Given the description of an element on the screen output the (x, y) to click on. 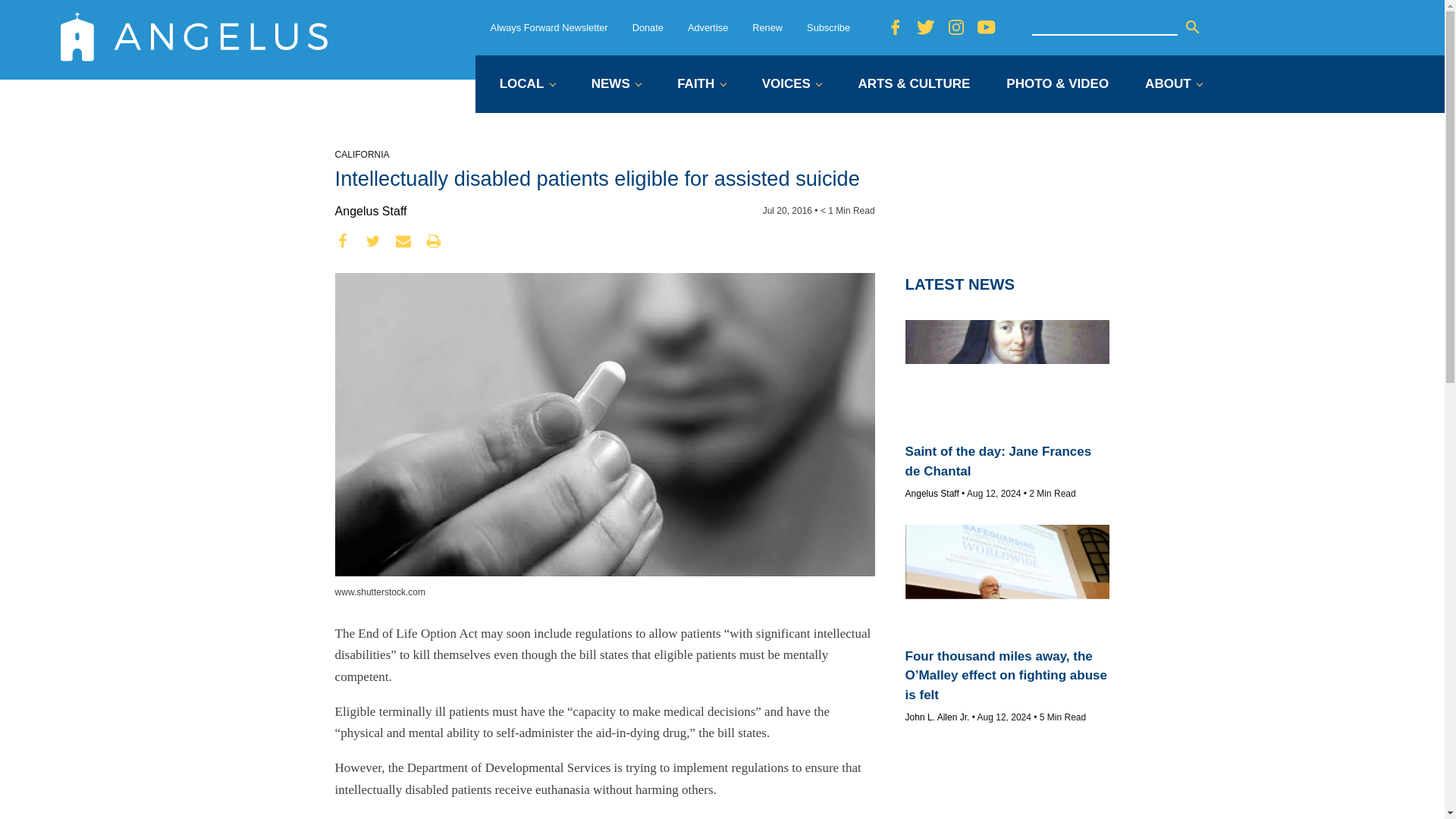
facebook (342, 240)
Renew (767, 27)
Posts by Angelus Staff (370, 210)
FAITH (701, 84)
Advertise (707, 27)
Search (1192, 27)
Posts by John L. Allen Jr. (937, 716)
Subscribe (828, 27)
Donate (647, 27)
envelope (403, 240)
